Given the description of an element on the screen output the (x, y) to click on. 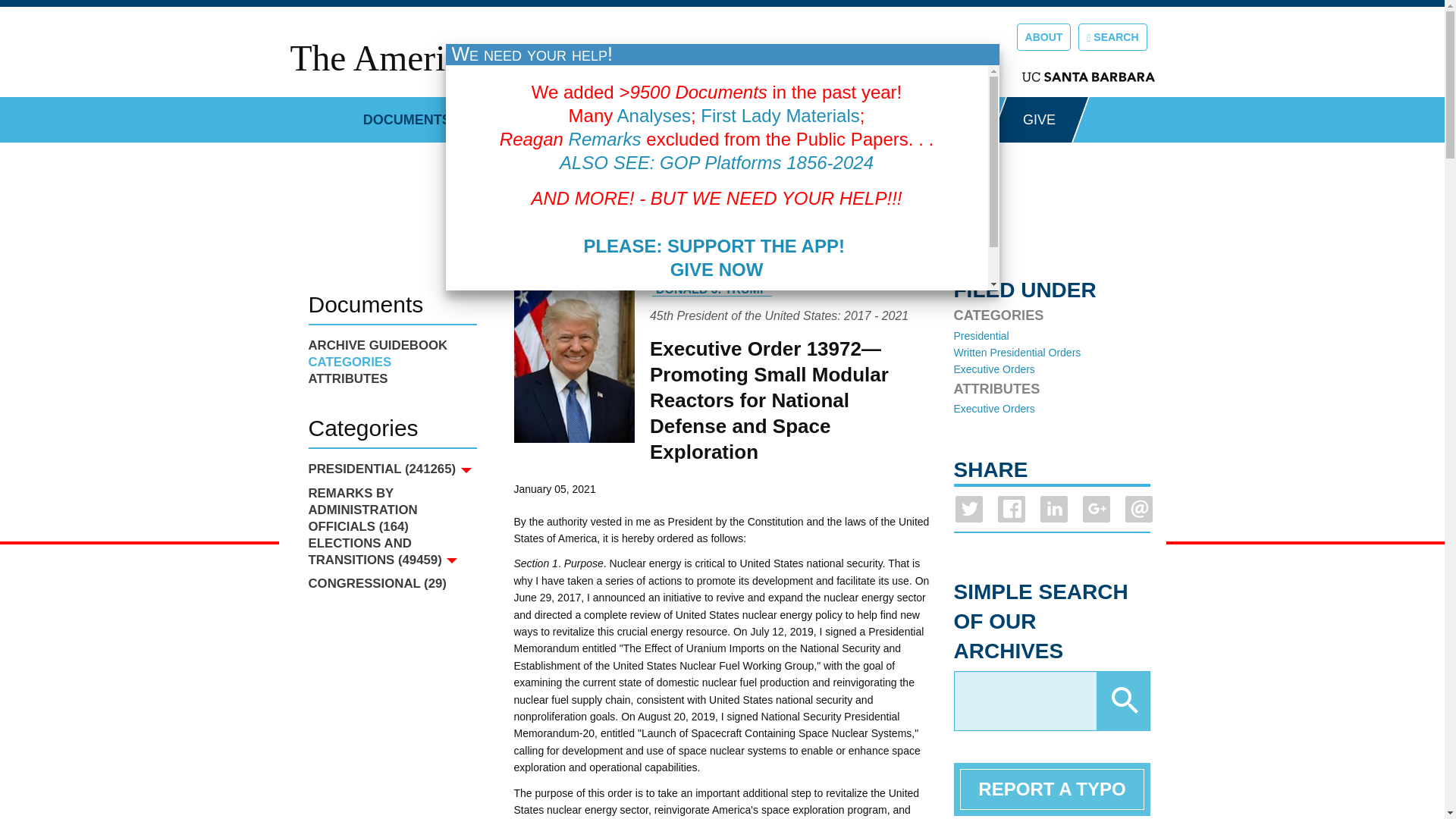
 SEARCH (1112, 36)
CATEGORIES (391, 362)
PRESIDENTS (800, 113)
STATISTICS (530, 113)
ATTRIBUTES (391, 379)
on (635, 307)
DOCUMENTS (406, 113)
The American Presidency Project (531, 57)
ANALYSES (920, 113)
ARCHIVE GUIDEBOOK (391, 345)
